Given the description of an element on the screen output the (x, y) to click on. 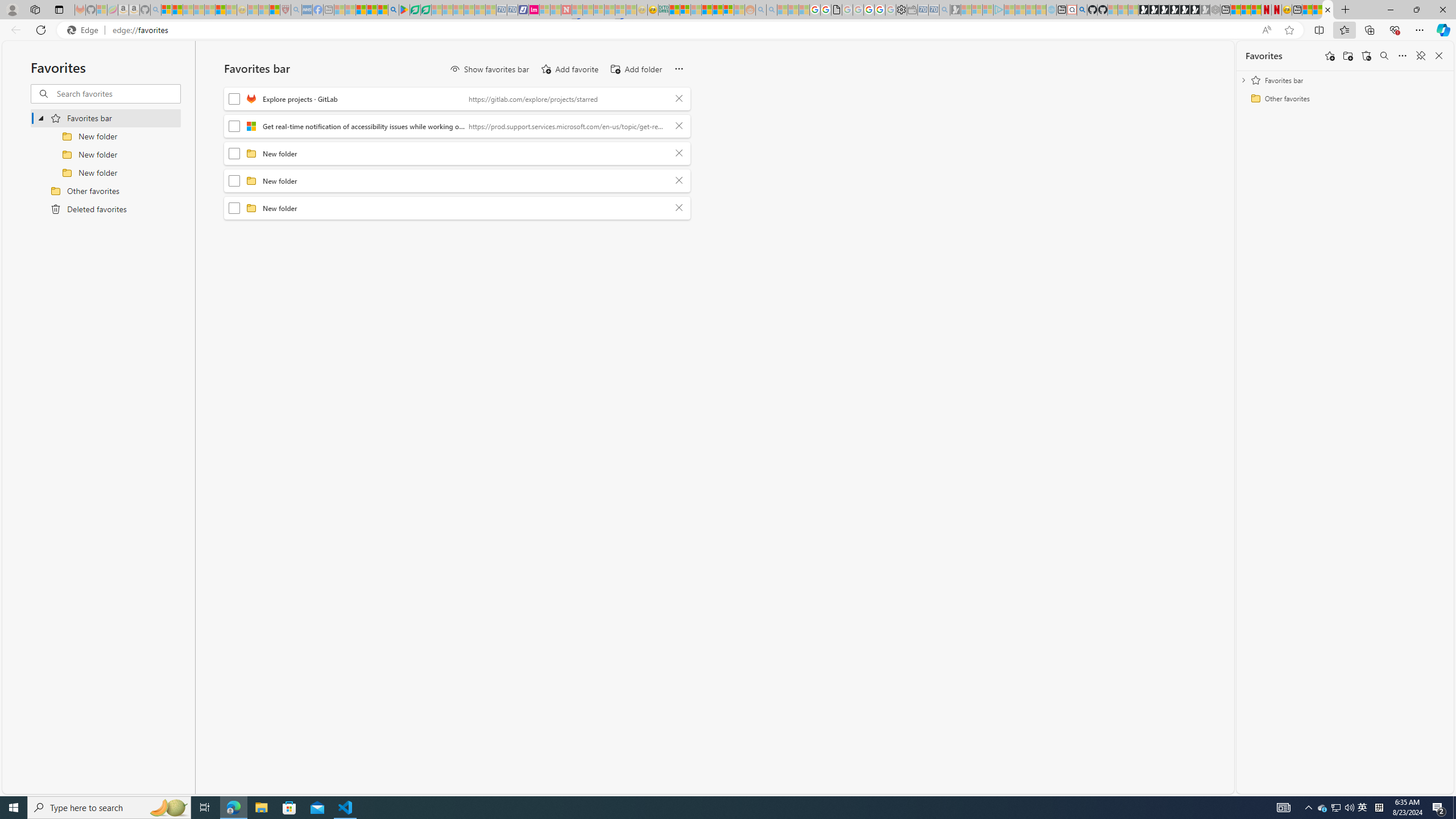
More options (1402, 55)
The Weather Channel - MSN - Sleeping (187, 9)
Microsoft-Report a Concern to Bing - Sleeping (101, 9)
FolderNew folder (457, 207)
